Given the description of an element on the screen output the (x, y) to click on. 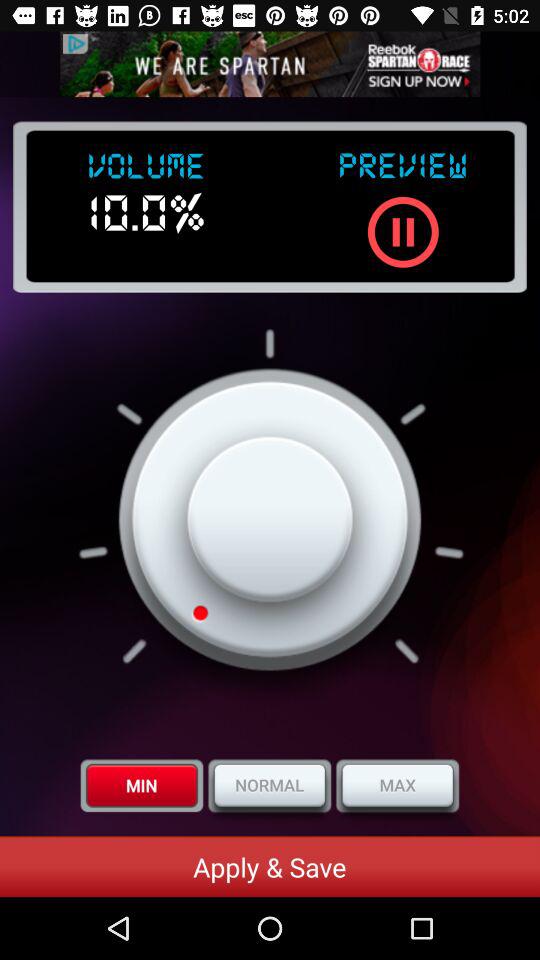
advertisement option (270, 64)
